Given the description of an element on the screen output the (x, y) to click on. 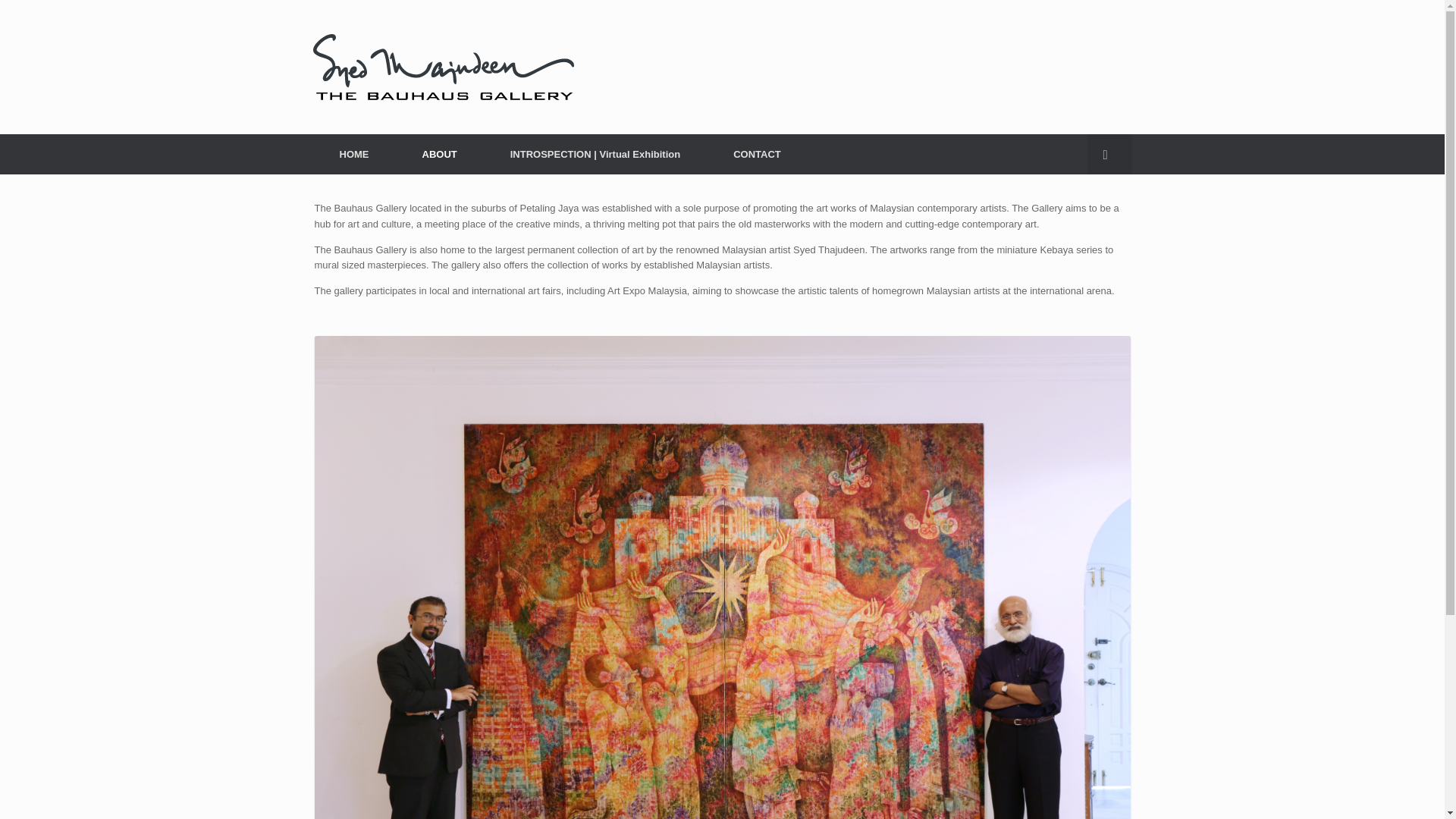
CONTACT (757, 154)
HOME (353, 154)
Syed Thajudeen (443, 66)
ABOUT (439, 154)
INTROSPECTION by Syed Thajudeen (594, 154)
